Given the description of an element on the screen output the (x, y) to click on. 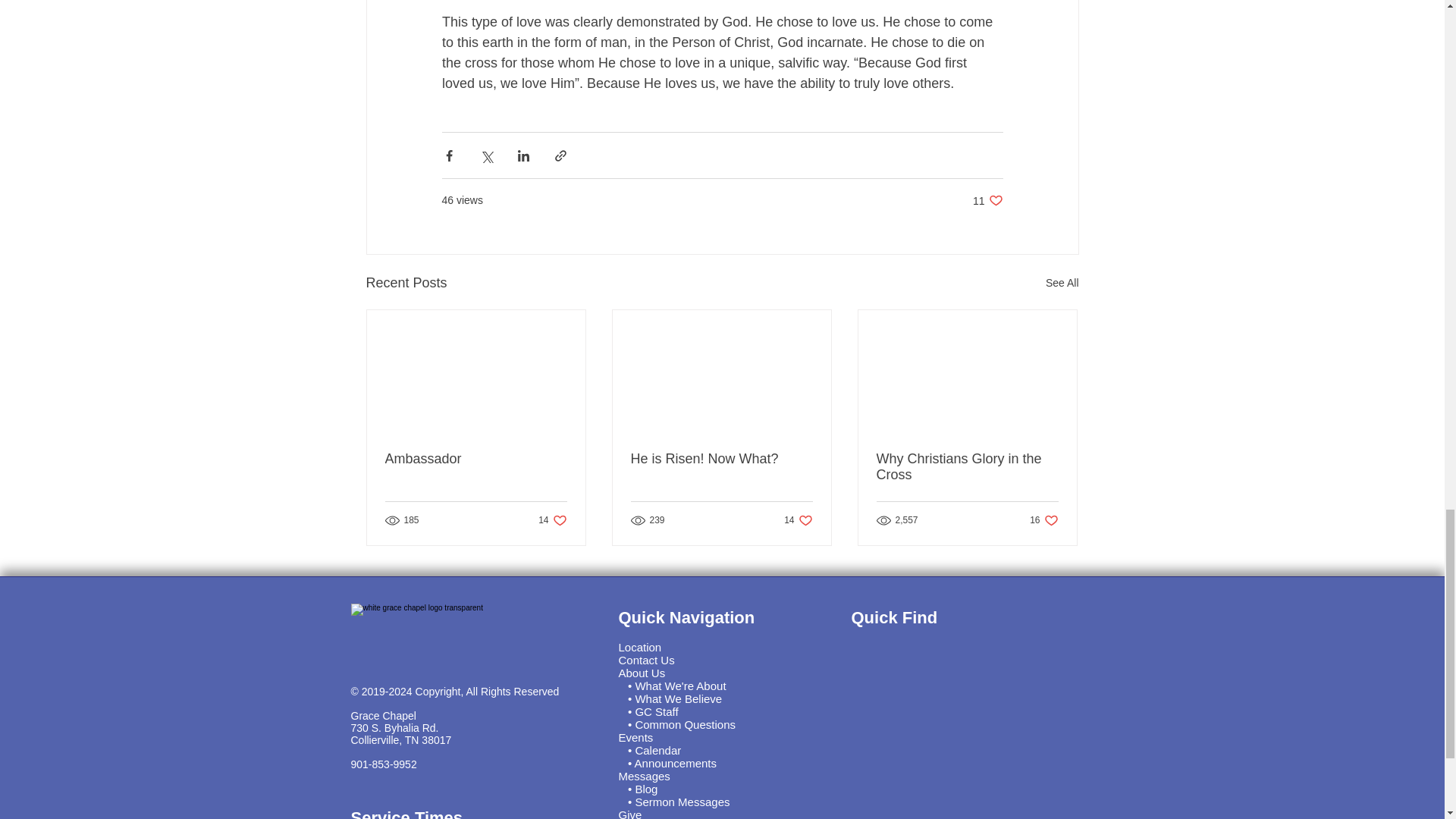
What We're About (679, 685)
Why Christians Glory in the Cross (967, 467)
See All (1043, 520)
Calendar (1061, 282)
What We Believe (657, 749)
Common Questions (678, 698)
Announcements (684, 724)
Ambassador (675, 762)
He is Risen! Now What? (476, 458)
Location (798, 520)
GC Staff (721, 458)
Sermon Messages (987, 200)
